Given the description of an element on the screen output the (x, y) to click on. 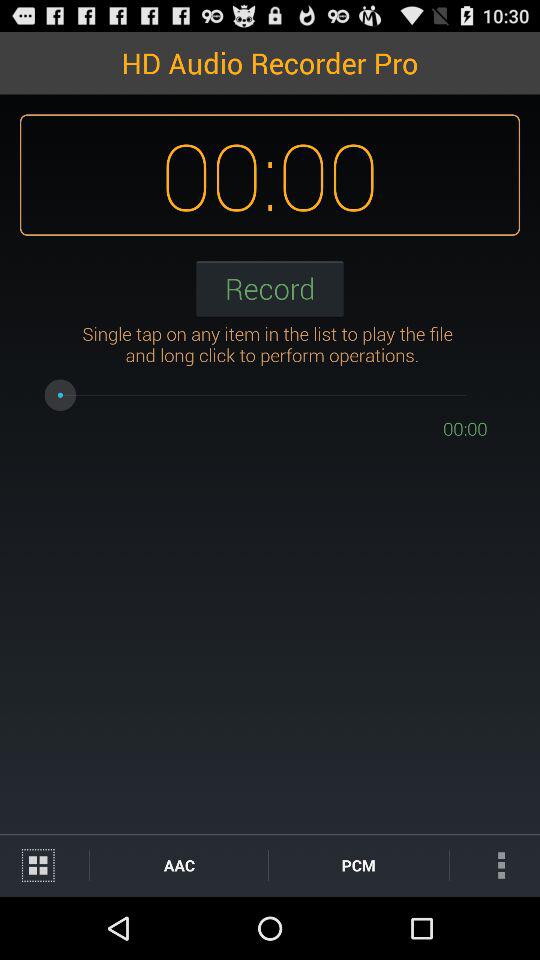
swipe until record icon (269, 288)
